Given the description of an element on the screen output the (x, y) to click on. 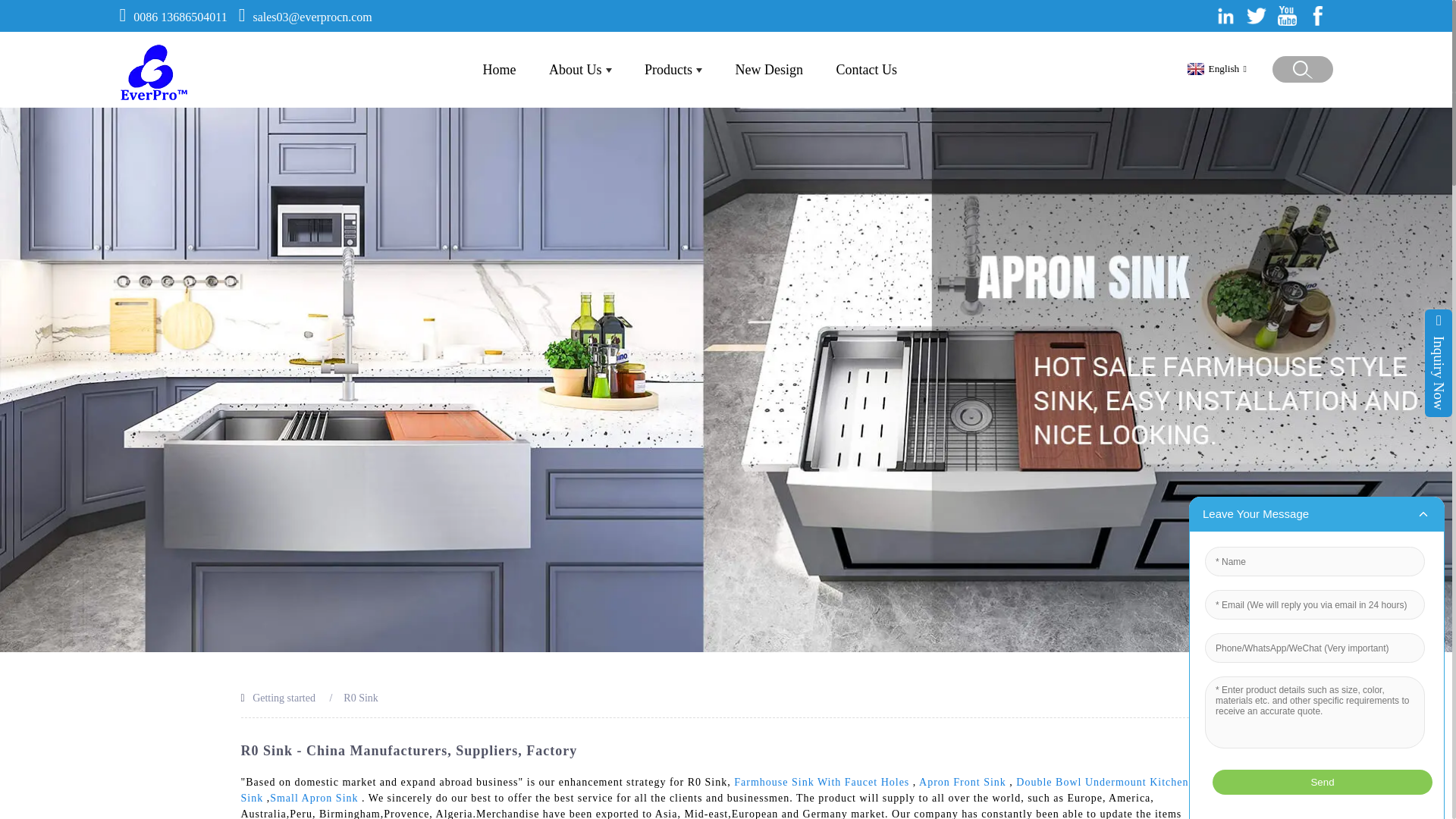
Small Apron Sink (313, 797)
About Us (579, 68)
0086 13686504011 (180, 16)
Double Bowl Undermount Kitchen Sink (715, 789)
Apron Front Sink (962, 781)
Products (673, 68)
Farmhouse Sink With Faucet Holes (820, 781)
Home (499, 68)
